Given the description of an element on the screen output the (x, y) to click on. 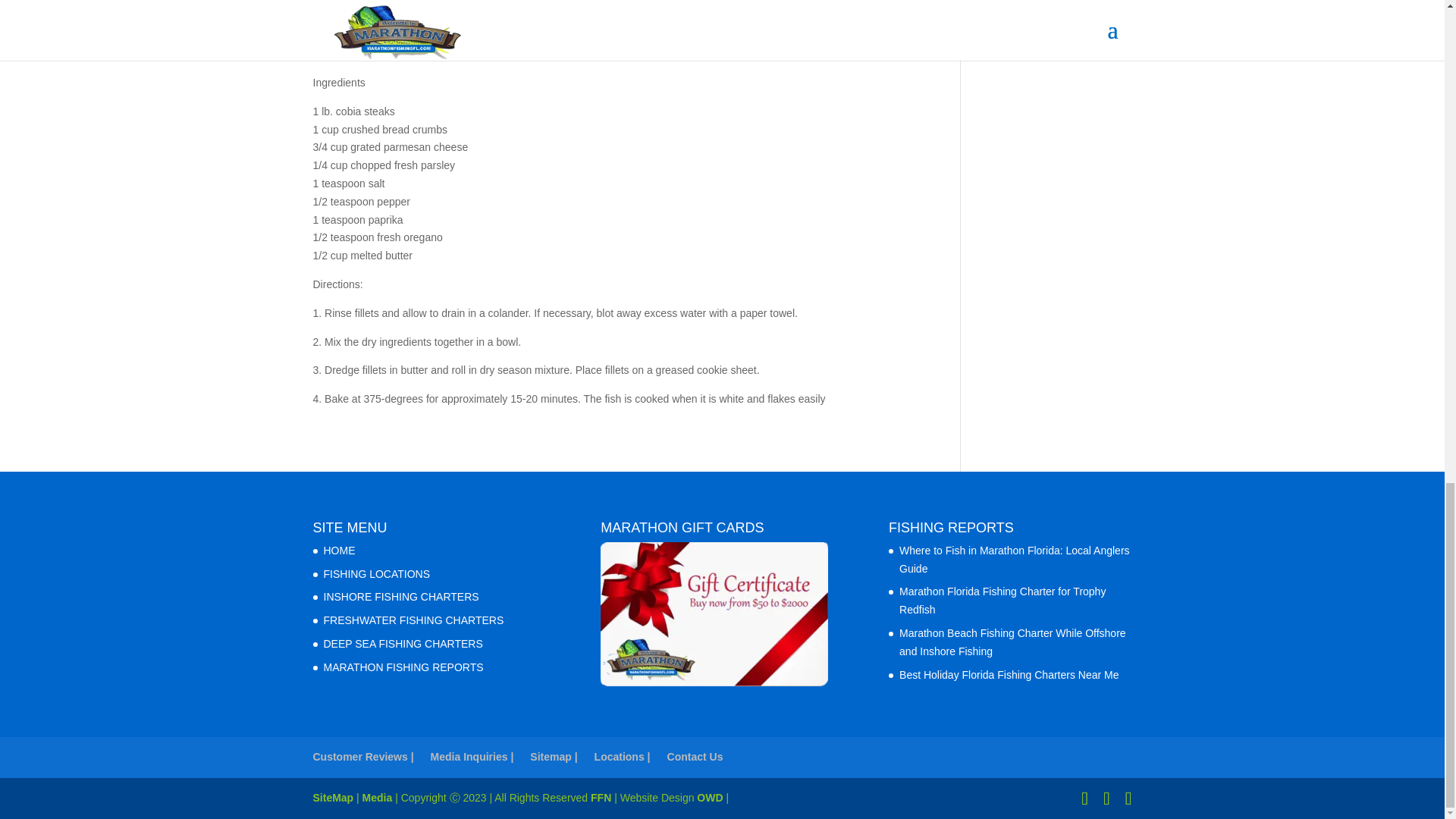
FISHING LOCATIONS (376, 573)
HOME (339, 550)
FRESHWATER FISHING CHARTERS (413, 620)
INSHORE FISHING CHARTERS (401, 596)
